Given the description of an element on the screen output the (x, y) to click on. 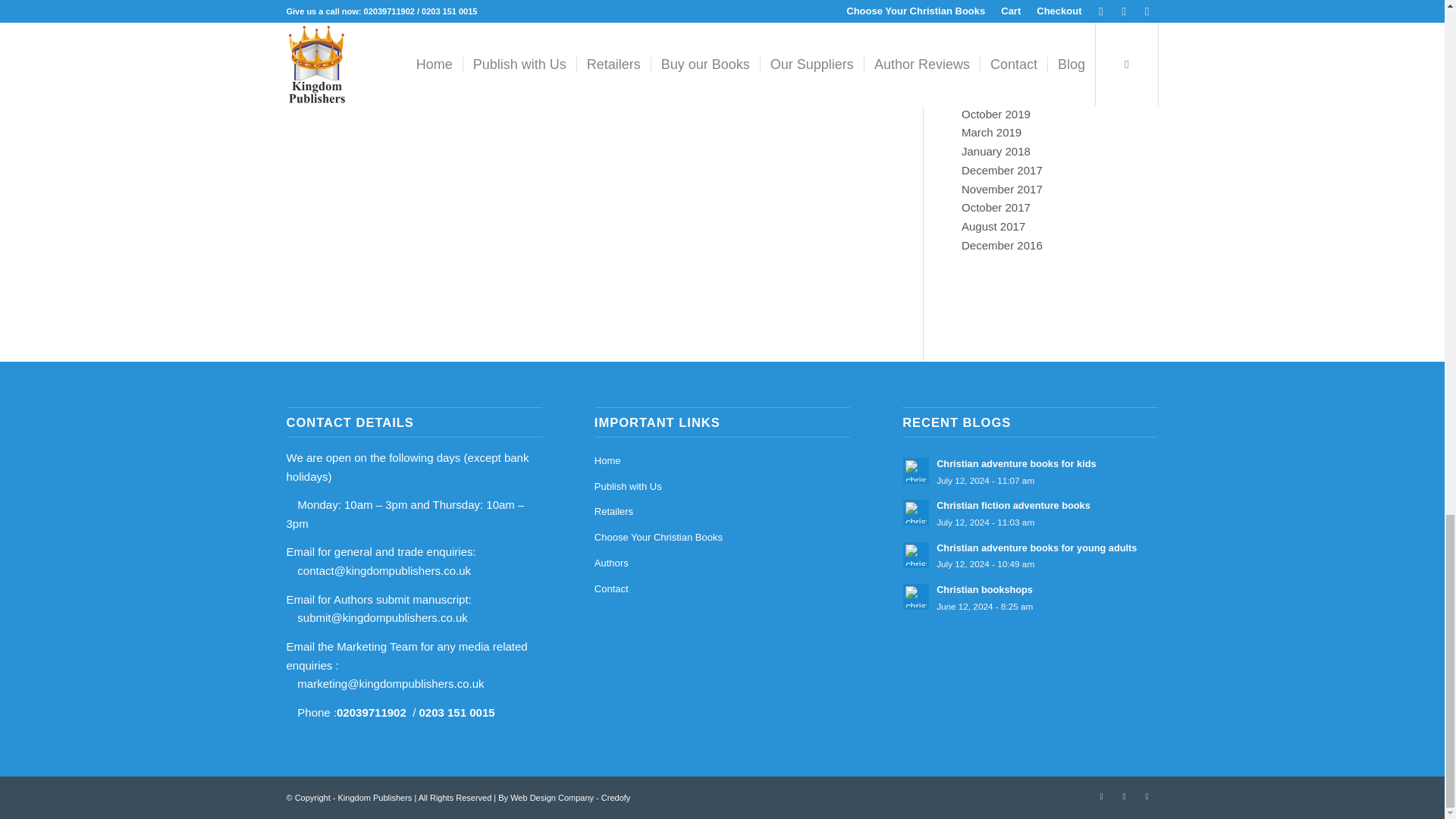
Christian adventure books for young adults (1029, 555)
Christian bookshops (1029, 596)
Christian adventure books for kids (1029, 471)
Facebook (1101, 795)
Christian fiction adventure books (1029, 512)
